Given the description of an element on the screen output the (x, y) to click on. 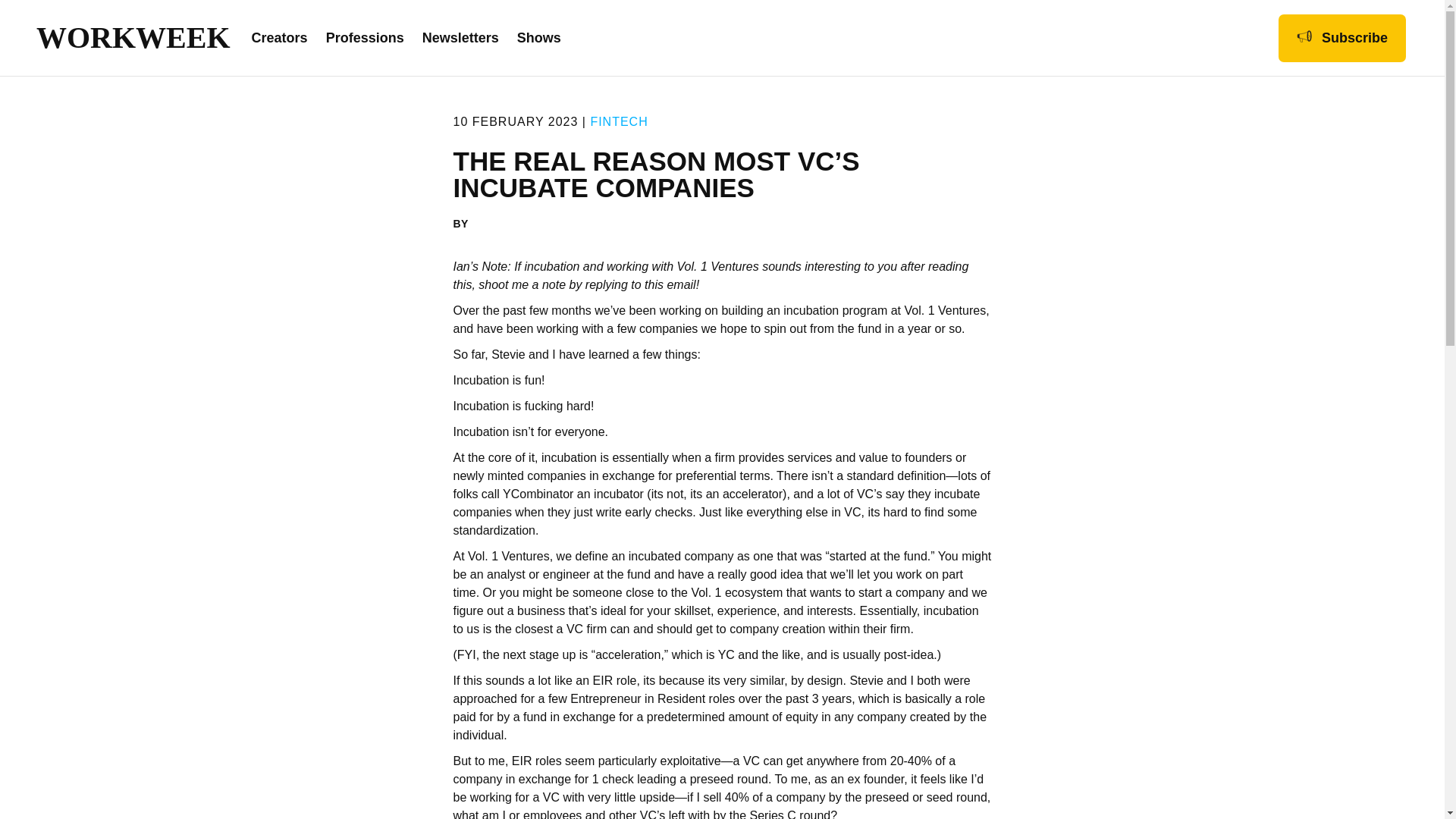
Creators (279, 37)
WORKWEEK (116, 38)
Newsletters (460, 37)
Professions (365, 37)
Shows (538, 37)
FINTECH (618, 121)
